Given the description of an element on the screen output the (x, y) to click on. 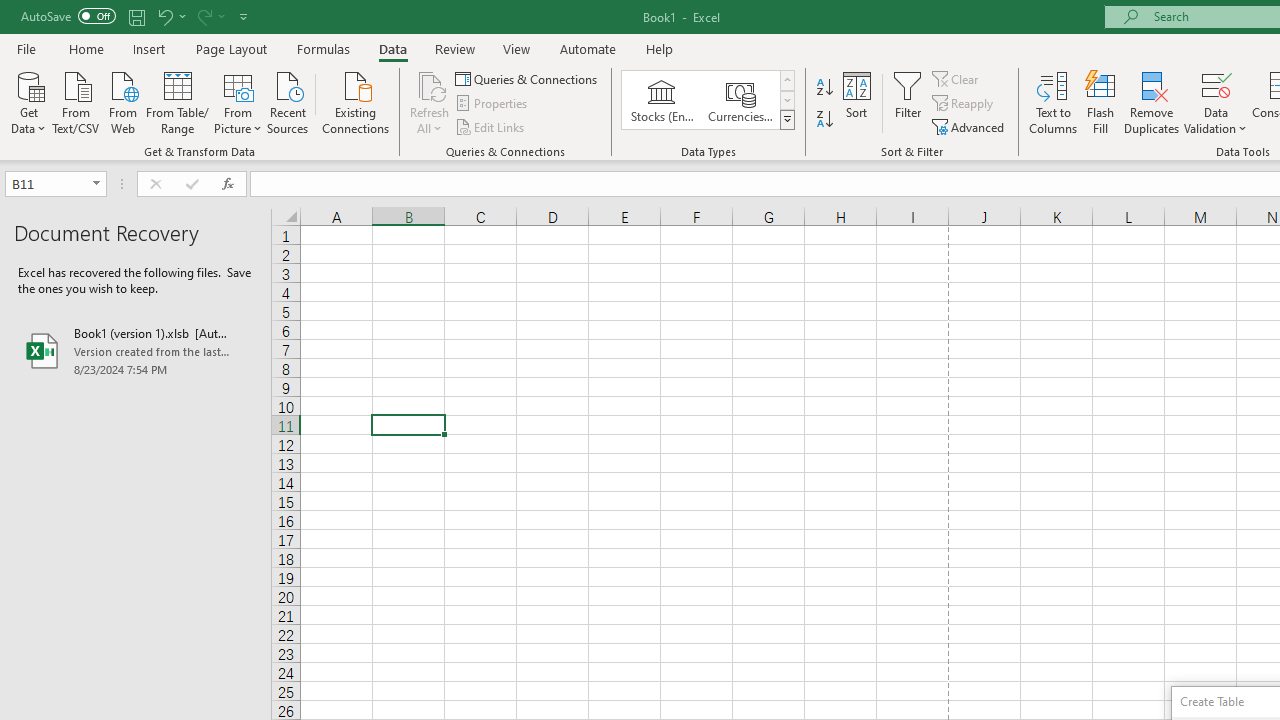
AutomationID: ConvertToLinkedEntity (708, 99)
Reapply (964, 103)
Home (86, 48)
Currencies (English) (740, 100)
Class: NetUIImage (787, 119)
Flash Fill (1101, 102)
Advanced... (970, 126)
Row up (786, 79)
Edit Links (491, 126)
Stocks (English) (662, 100)
Formulas (323, 48)
Sort A to Z (824, 87)
Filter (908, 102)
